Given the description of an element on the screen output the (x, y) to click on. 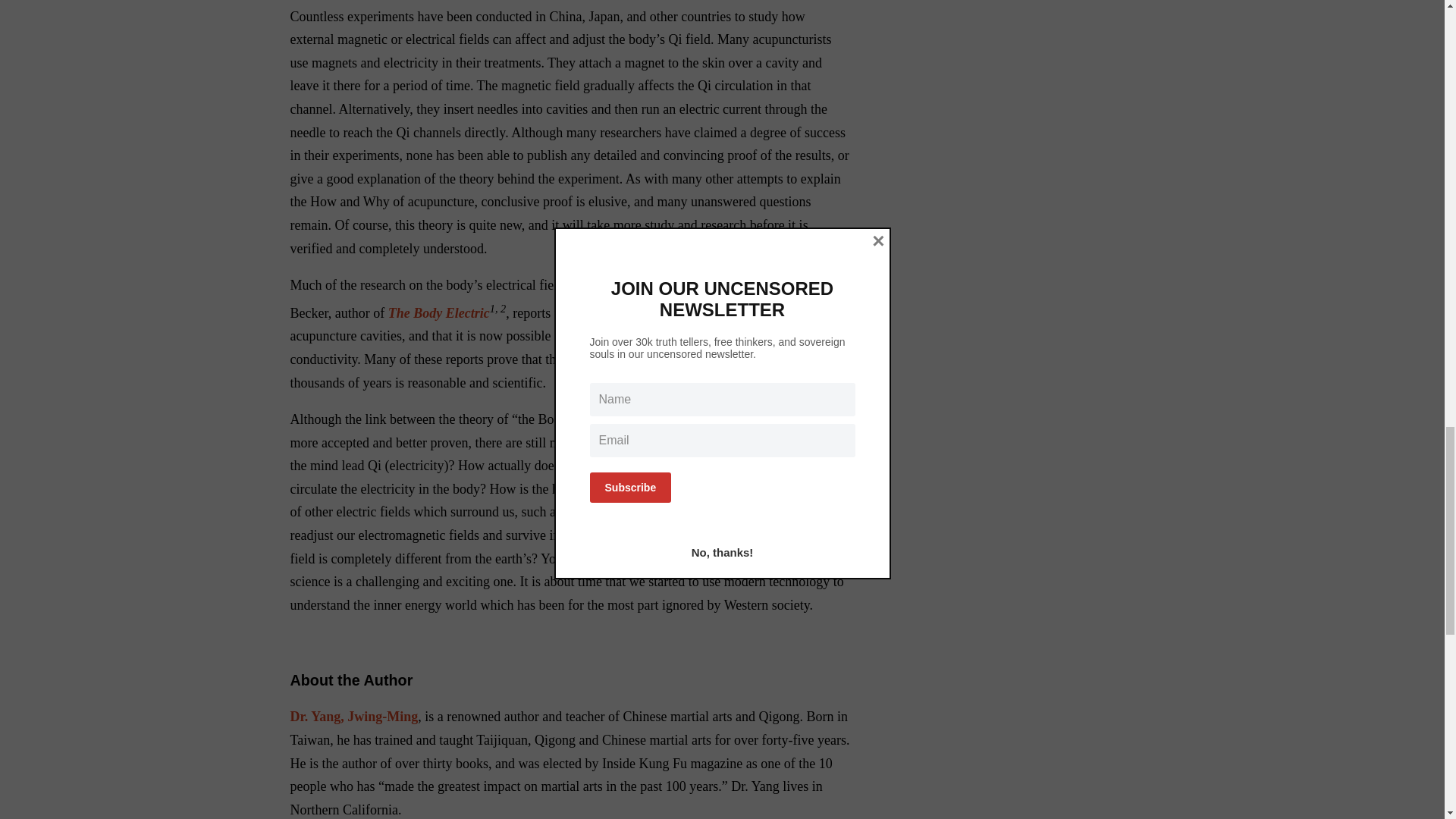
Dr. Yang, Jwing-Ming (353, 716)
The Body Electric (438, 313)
